Given the description of an element on the screen output the (x, y) to click on. 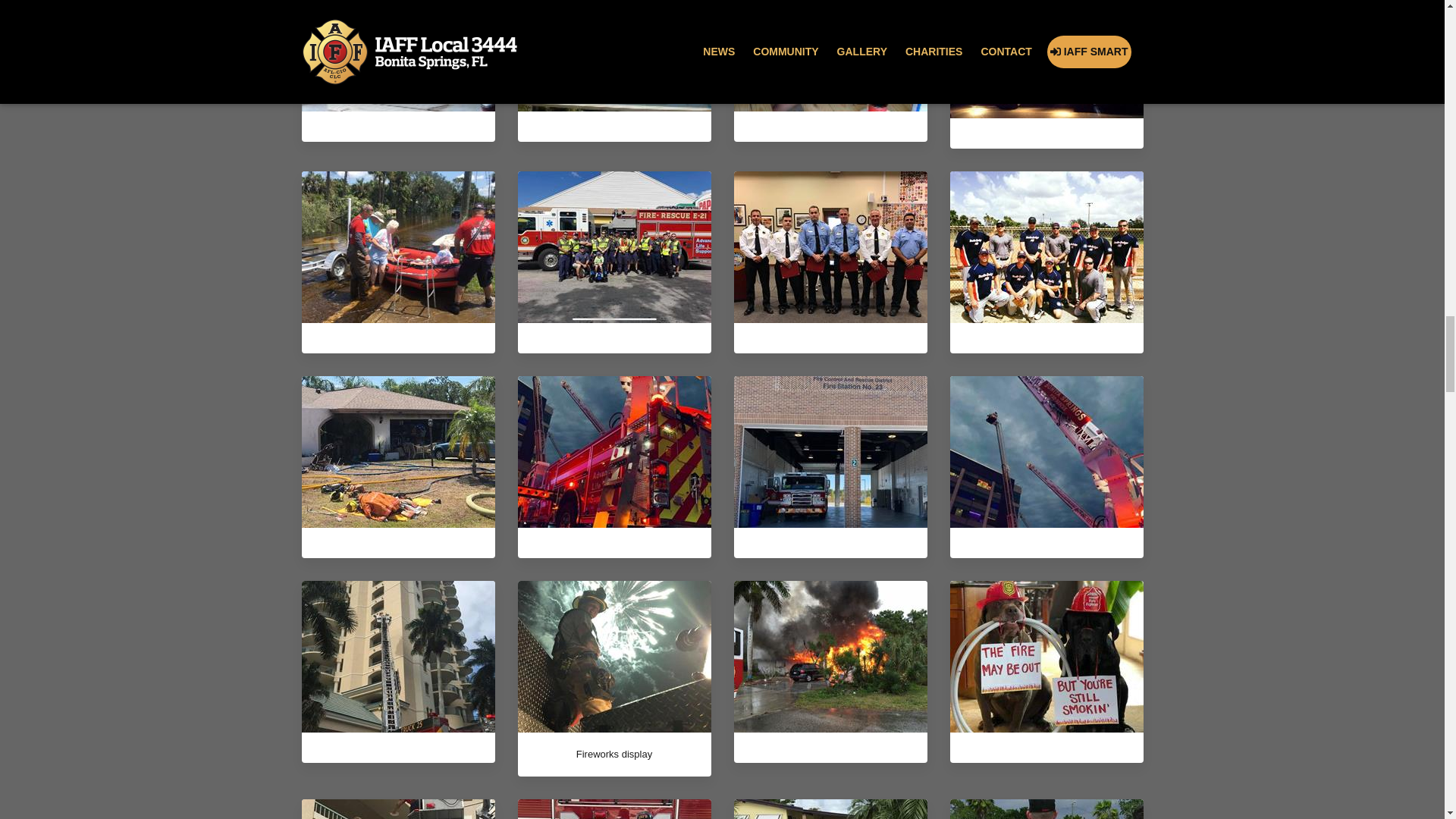
Local 3444 Community Picnic Tables (830, 38)
Local 3444 Community Picnic Tables (613, 56)
Local 3444 Community Picnic Tables (830, 56)
Local 3444 Community Picnic Tables (398, 56)
Local 3444 Community Picnic Tables (398, 38)
Local 3444 Community Picnic Tables (613, 38)
Water Rescue (398, 245)
Water Rescue (398, 246)
